Given the description of an element on the screen output the (x, y) to click on. 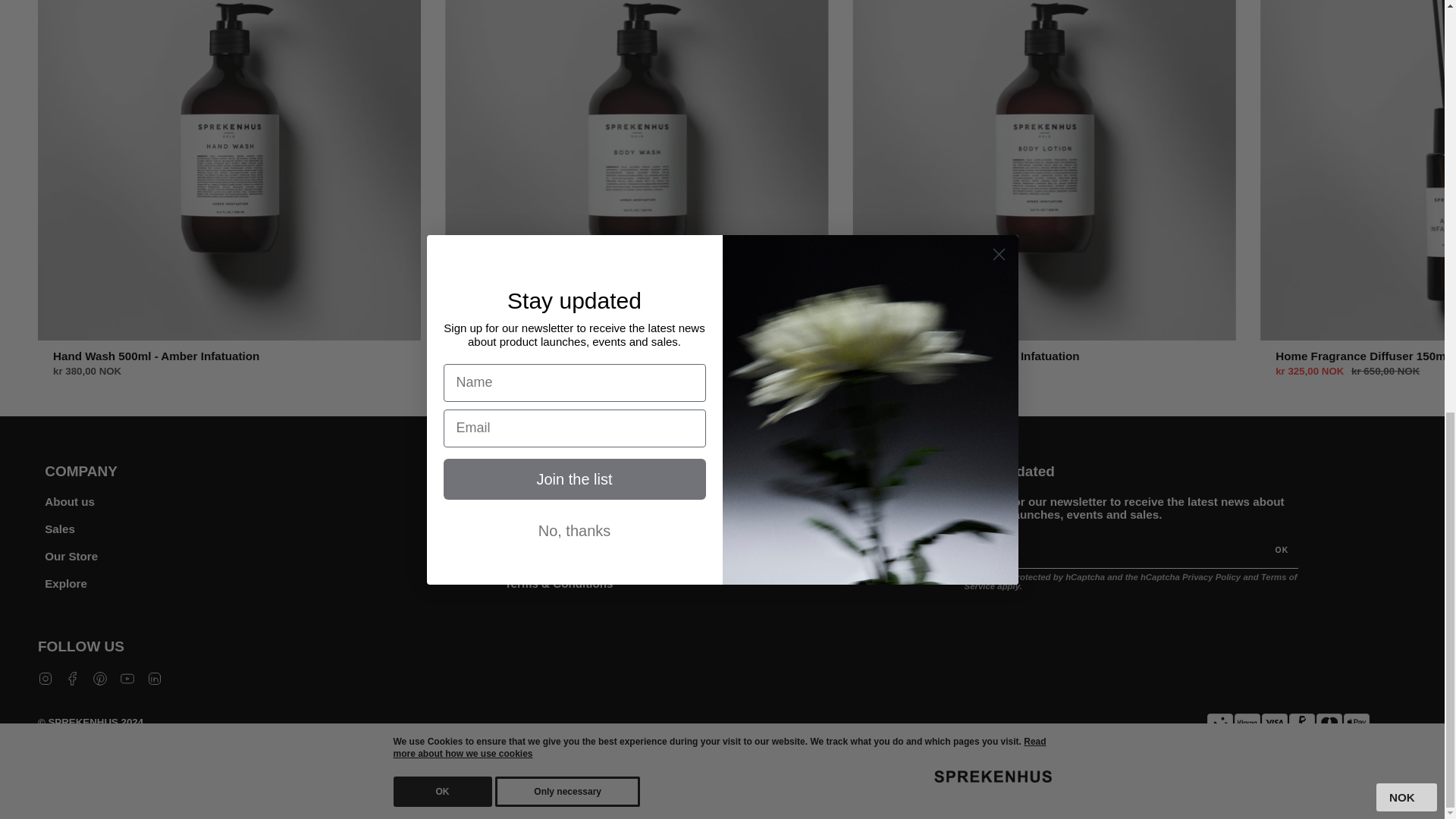
SPREKENHUS on Linkedin (154, 676)
SPREKENHUS on Facebook (72, 676)
SPREKENHUS on YouTube (127, 676)
SPREKENHUS on Pinterest (100, 676)
SPREKENHUS on Instagram (44, 676)
